Given the description of an element on the screen output the (x, y) to click on. 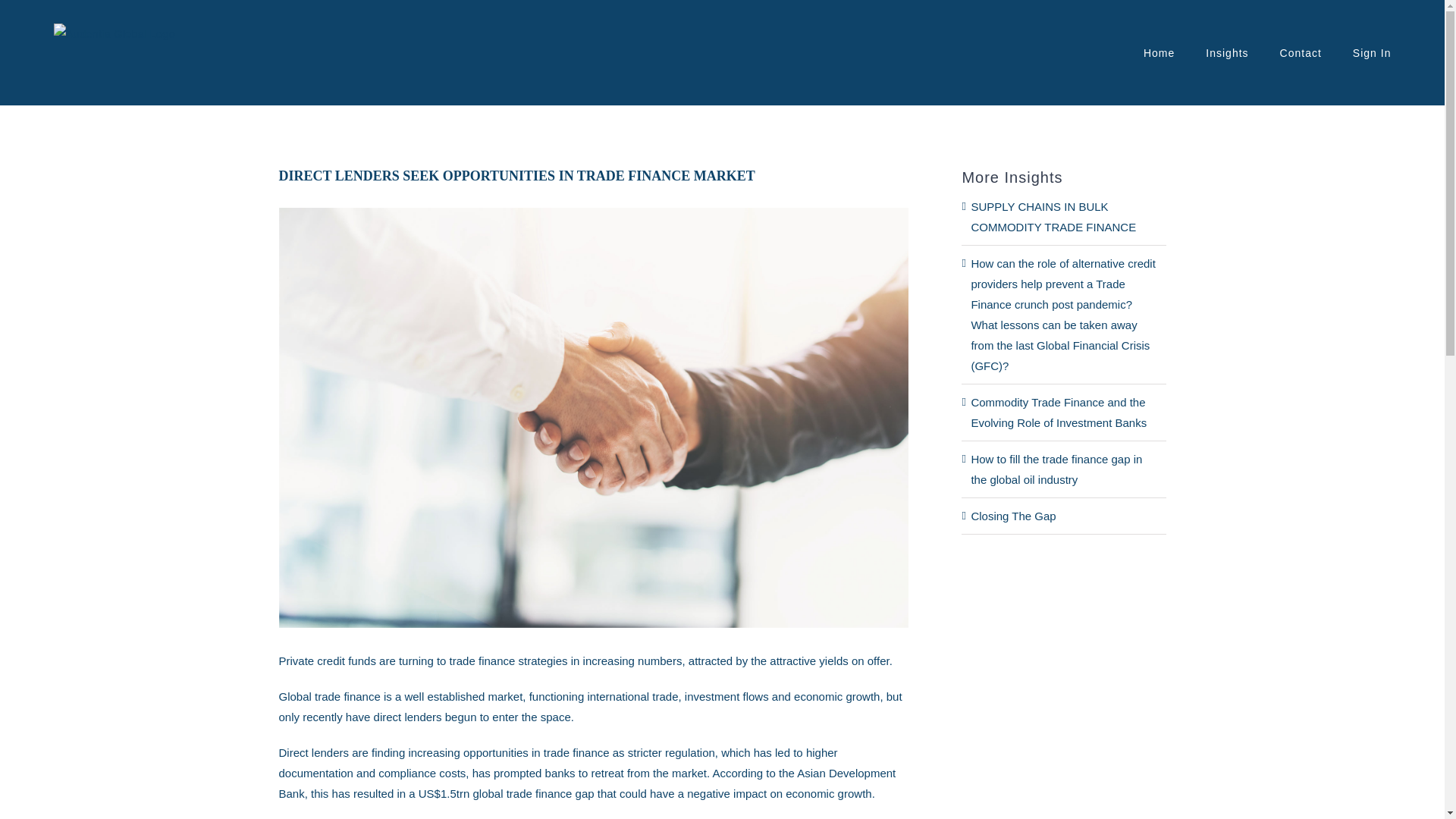
Home (1158, 52)
Contact (1300, 52)
Insights (1226, 52)
SUPPLY CHAINS IN BULK COMMODITY TRADE FINANCE (1053, 216)
Sign In (1371, 52)
Closing The Gap (1013, 515)
How to fill the trade finance gap in the global oil industry (1056, 469)
